Given the description of an element on the screen output the (x, y) to click on. 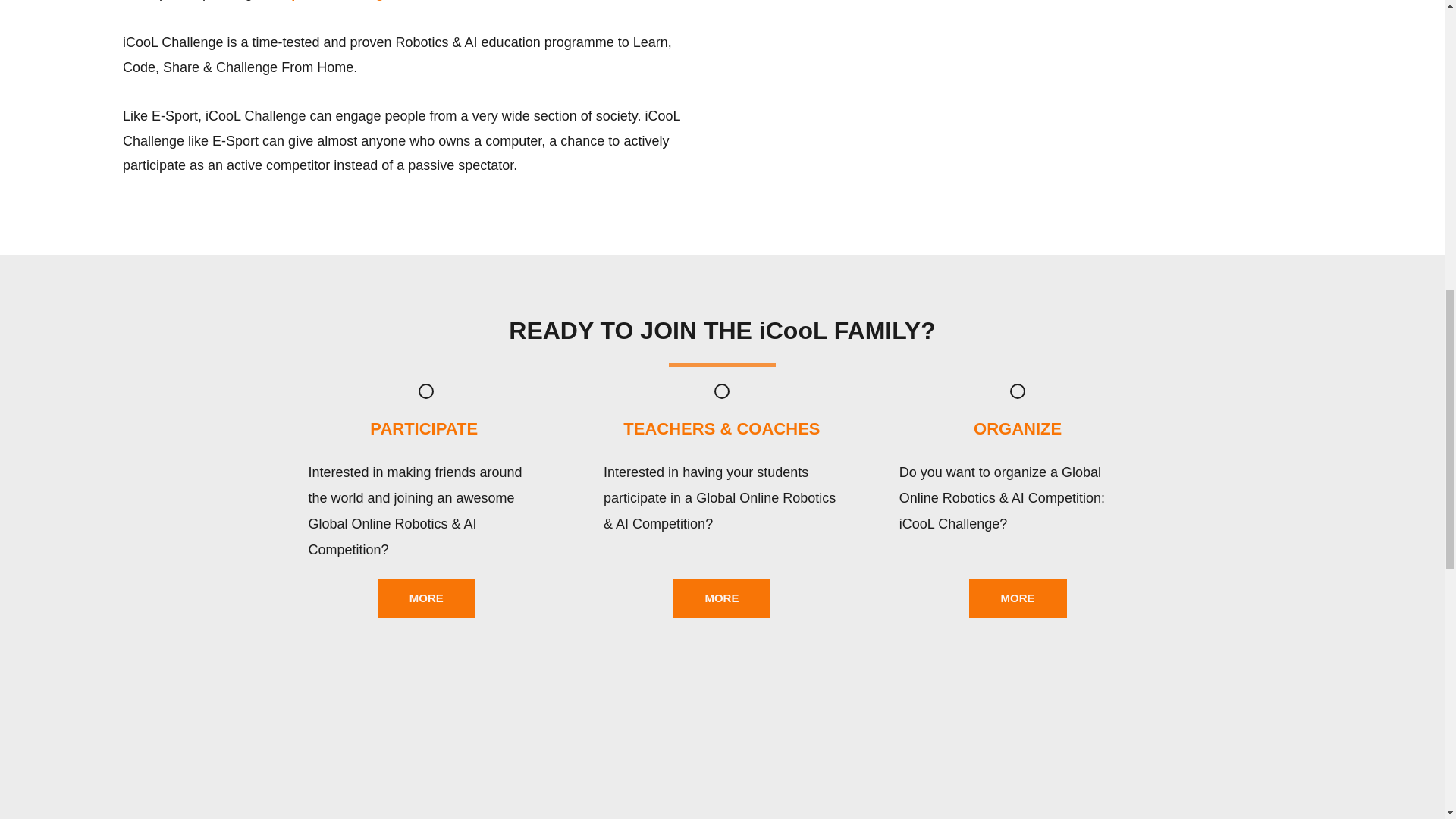
MORE (426, 598)
video (722, 749)
MORE (1018, 598)
MORE (721, 598)
